Given the description of an element on the screen output the (x, y) to click on. 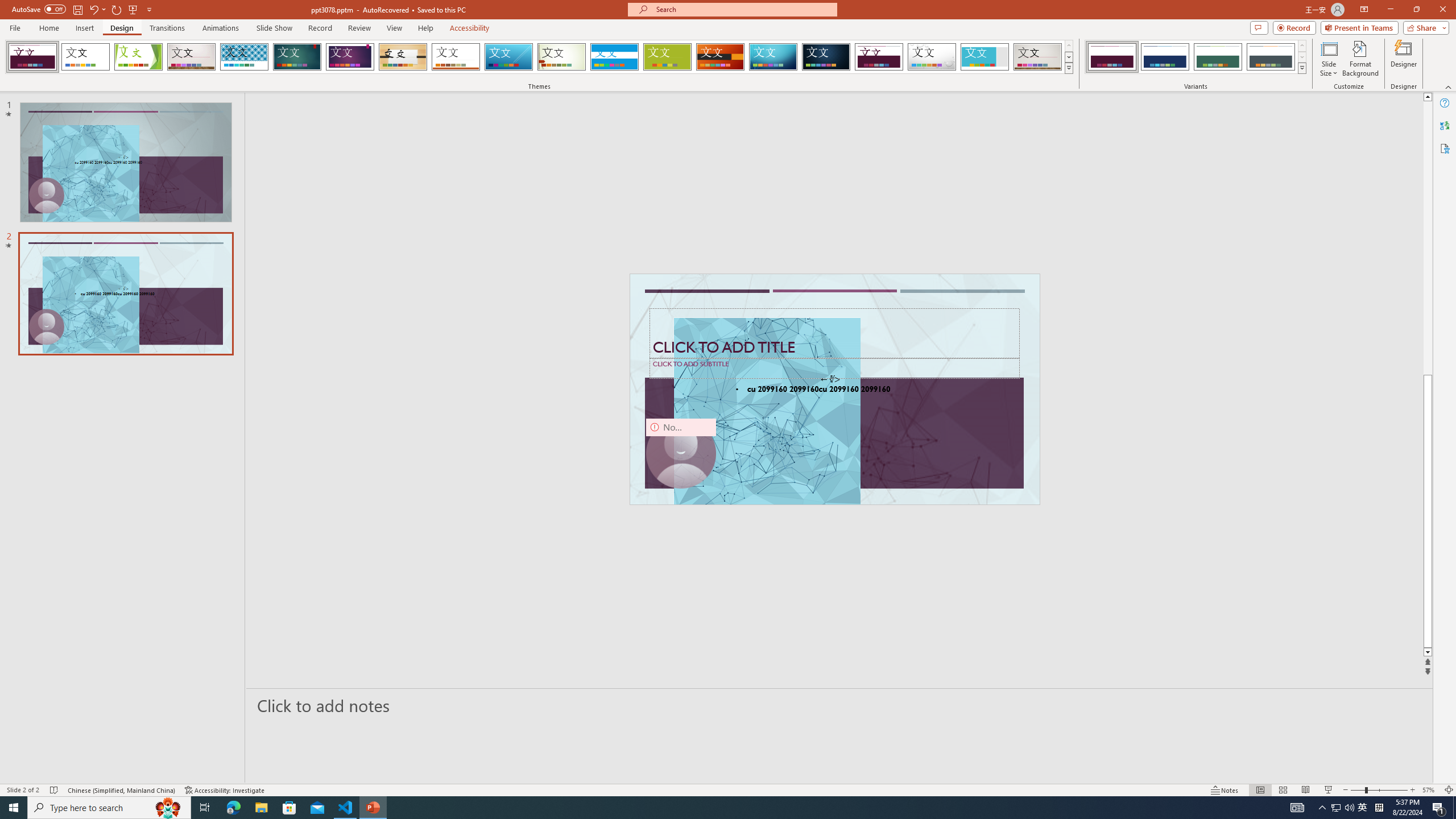
Themes (1068, 67)
Frame (984, 56)
AutomationID: ThemeVariantsGallery (1195, 56)
Organic (403, 56)
Banded (614, 56)
